Given the description of an element on the screen output the (x, y) to click on. 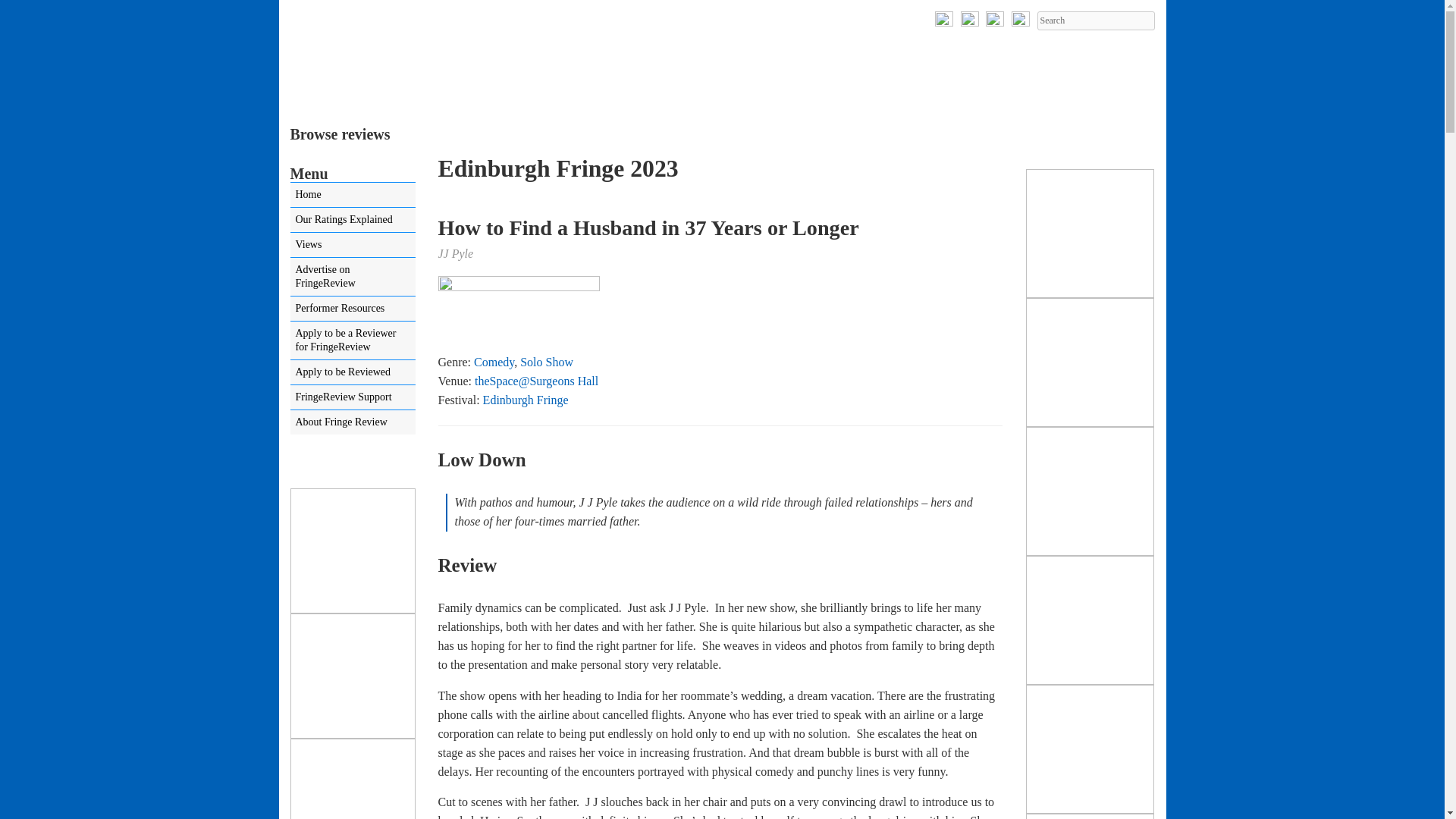
Search for: (1095, 20)
Performer Resources (351, 308)
Our Ratings Explained (351, 219)
Apply to be Reviewed (351, 372)
Advertise on FringeReview (351, 276)
Home (351, 194)
Search (1095, 20)
Views (351, 244)
Search (1095, 20)
FringeReview Support (351, 396)
